Given the description of an element on the screen output the (x, y) to click on. 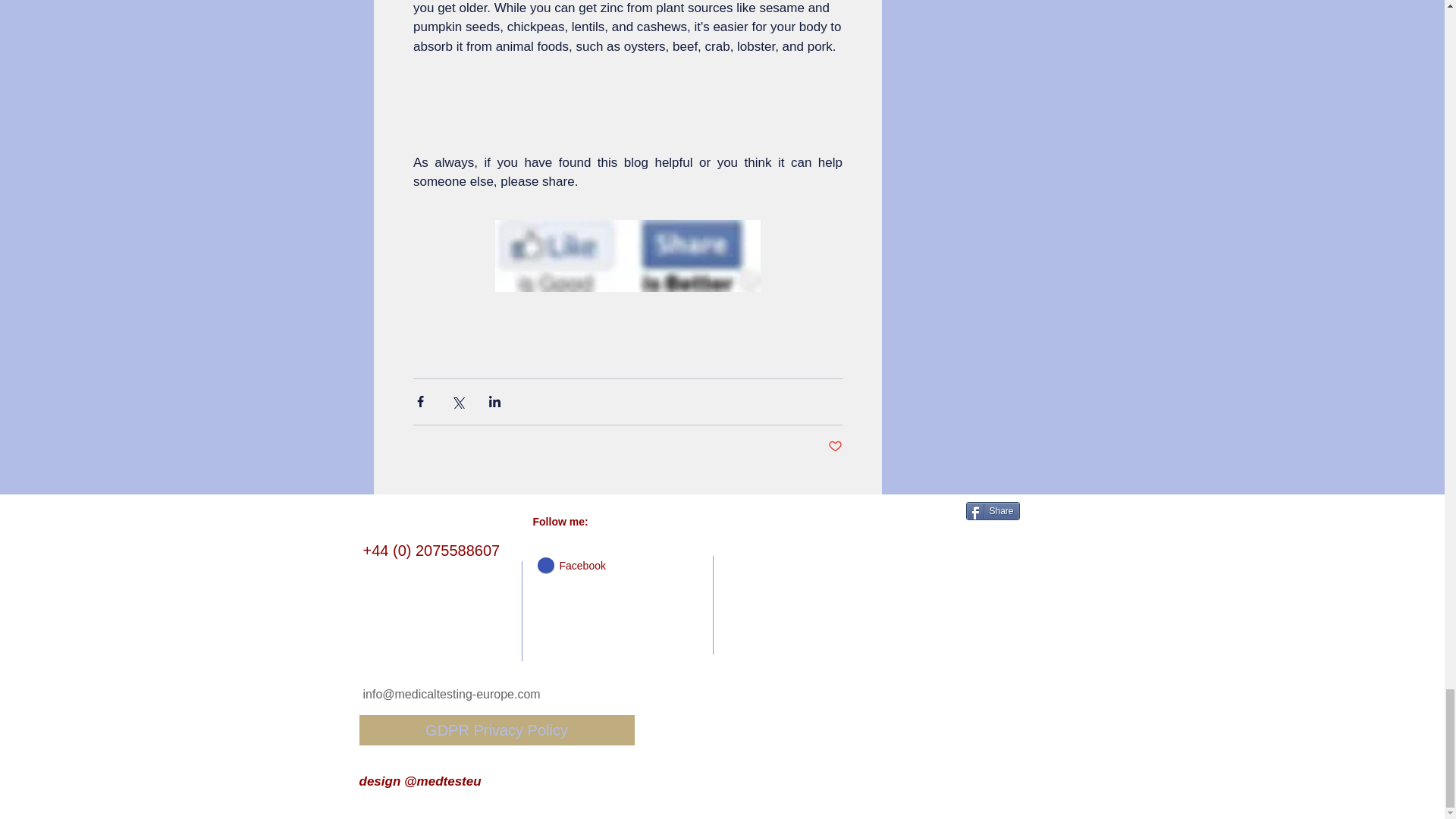
Share (993, 511)
Facebook Like (919, 512)
Post not marked as liked (835, 446)
